Given the description of an element on the screen output the (x, y) to click on. 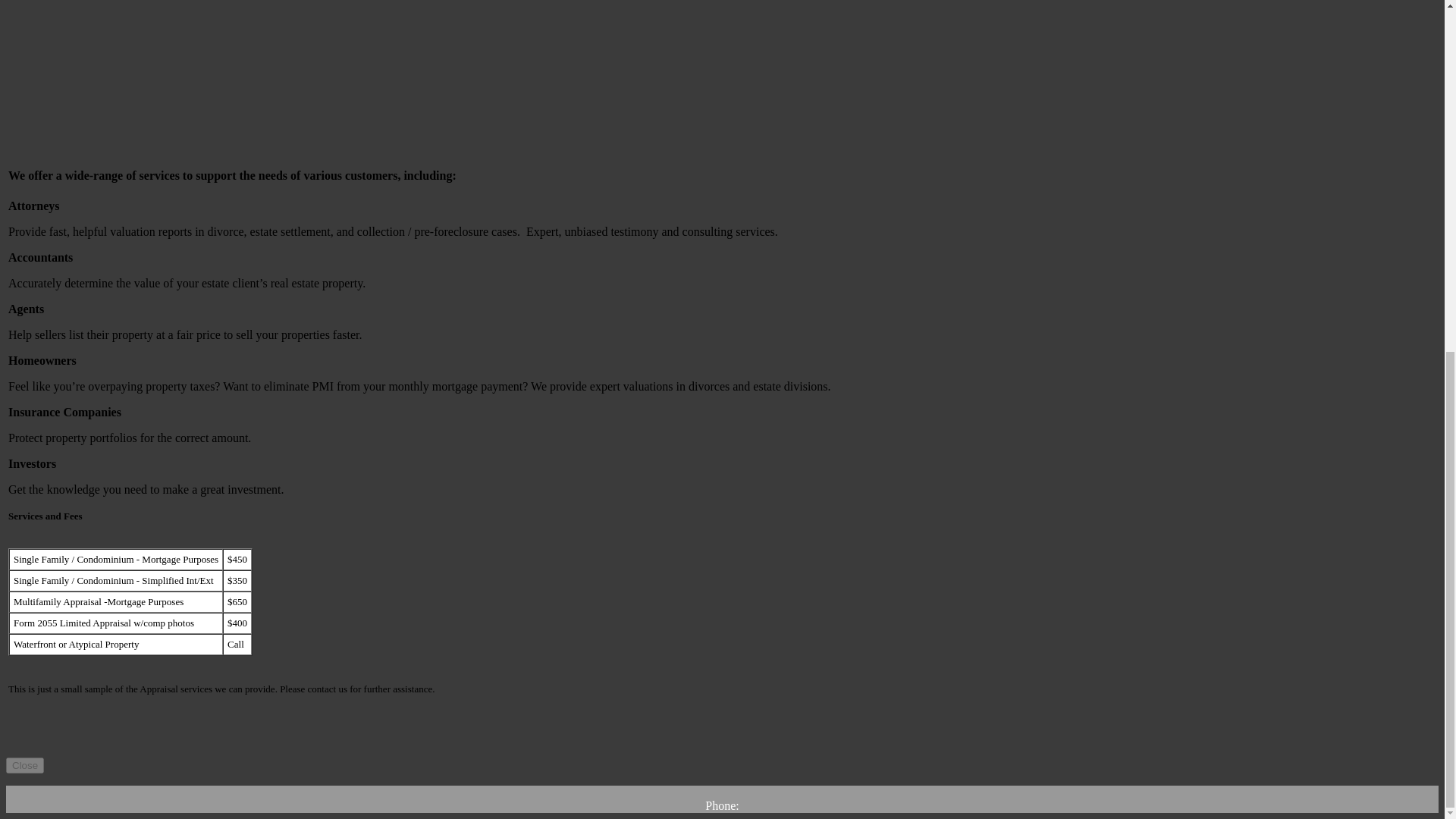
Close (24, 765)
